Given the description of an element on the screen output the (x, y) to click on. 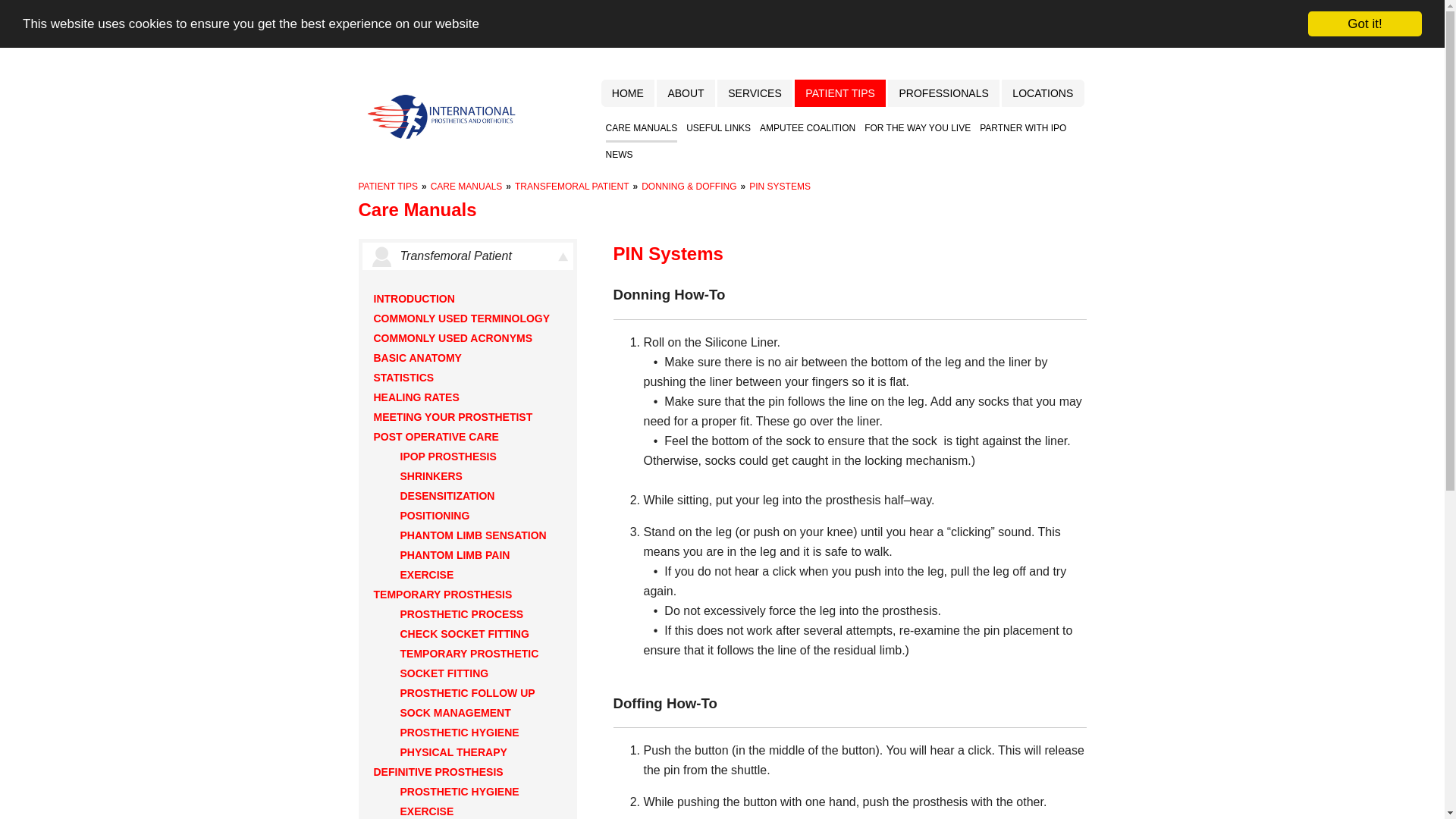
LOCATIONS (1042, 93)
PARTNER WITH IPO (1022, 129)
CARE MANUALS (641, 126)
COMMONLY USED ACRONYMS (452, 337)
NEWS (618, 155)
PROFESSIONALS (943, 93)
PATIENT TIPS (839, 90)
USEFUL LINKS (718, 127)
SERVICES (754, 84)
COMMONLY USED TERMINOLOGY (461, 318)
INTRODUCTION (413, 298)
CARE MANUALS (466, 185)
PIN SYSTEMS (779, 185)
PATIENT TIPS (387, 185)
TRANSFEMORAL PATIENT (571, 185)
